Given the description of an element on the screen output the (x, y) to click on. 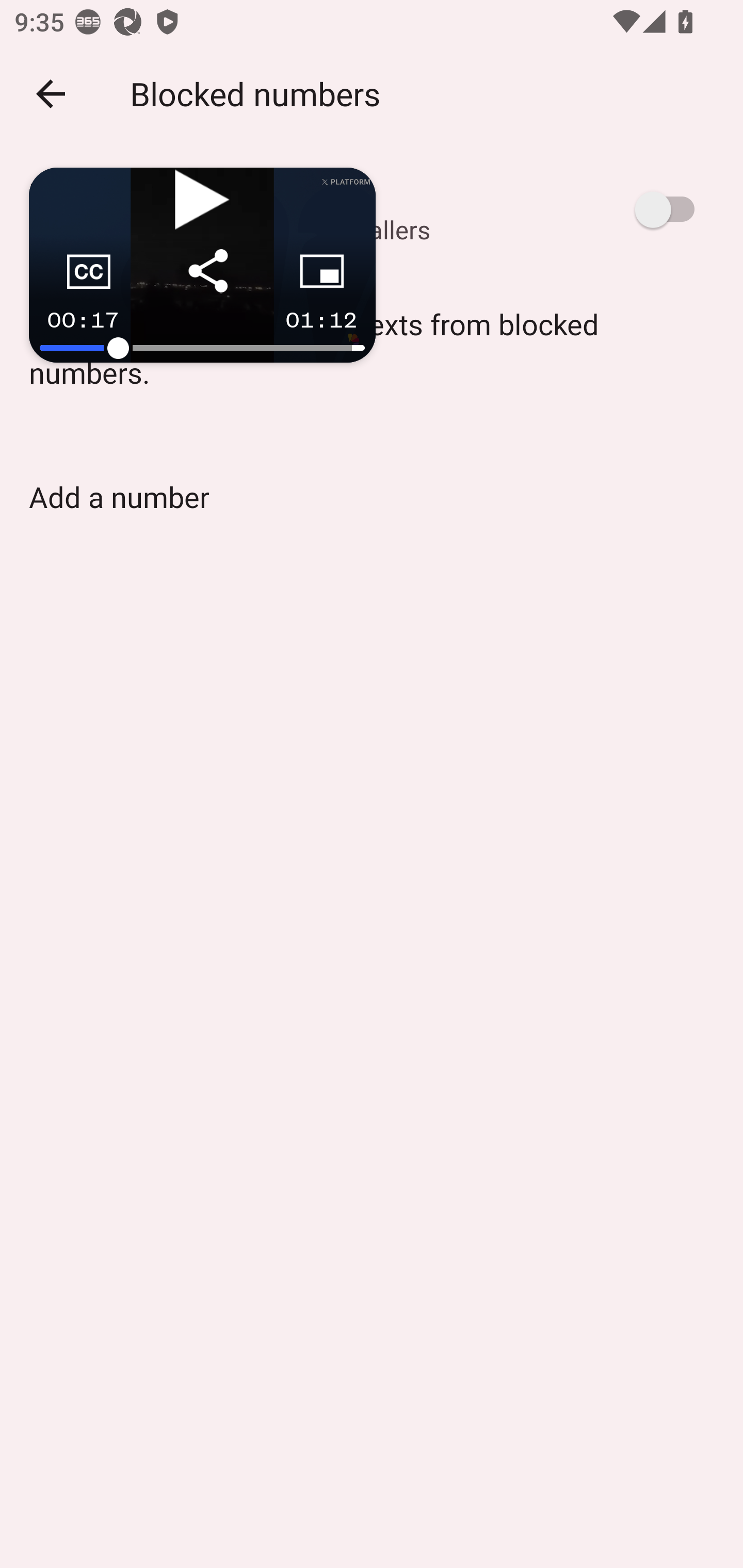
Navigate up (50, 93)
Add a number (118, 497)
